Given the description of an element on the screen output the (x, y) to click on. 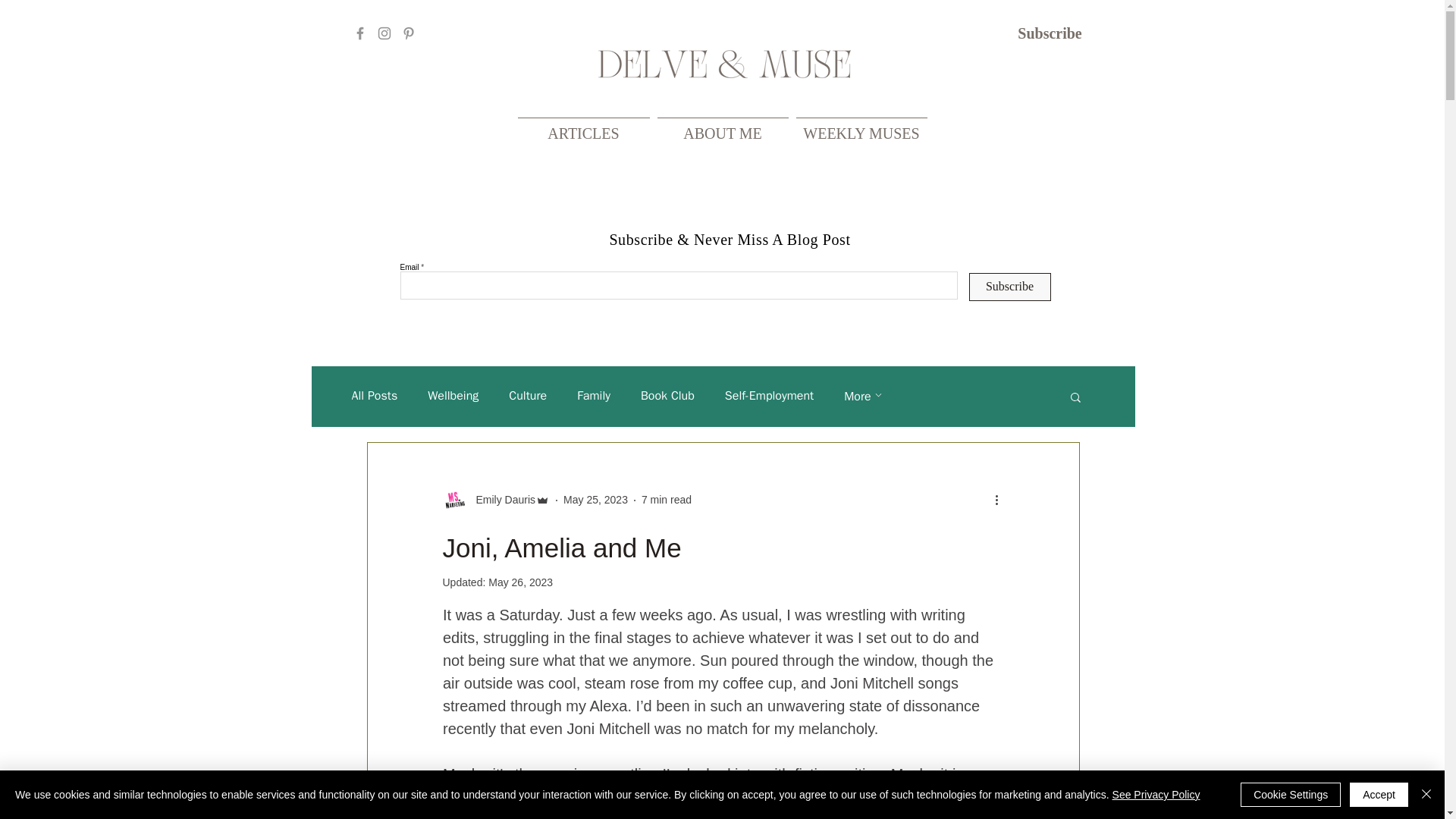
Emily Dauris (501, 499)
ARTICLES (583, 126)
Self-Employment (769, 396)
Culture (527, 396)
7 min read (666, 499)
All Posts (374, 396)
May 26, 2023 (520, 582)
Book Club (667, 396)
Subscribe (1010, 286)
Emily Dauris (496, 500)
WEEKLY MUSES (861, 126)
Subscribe (1049, 32)
ABOUT ME (722, 126)
Family (593, 396)
Wellbeing (453, 396)
